Given the description of an element on the screen output the (x, y) to click on. 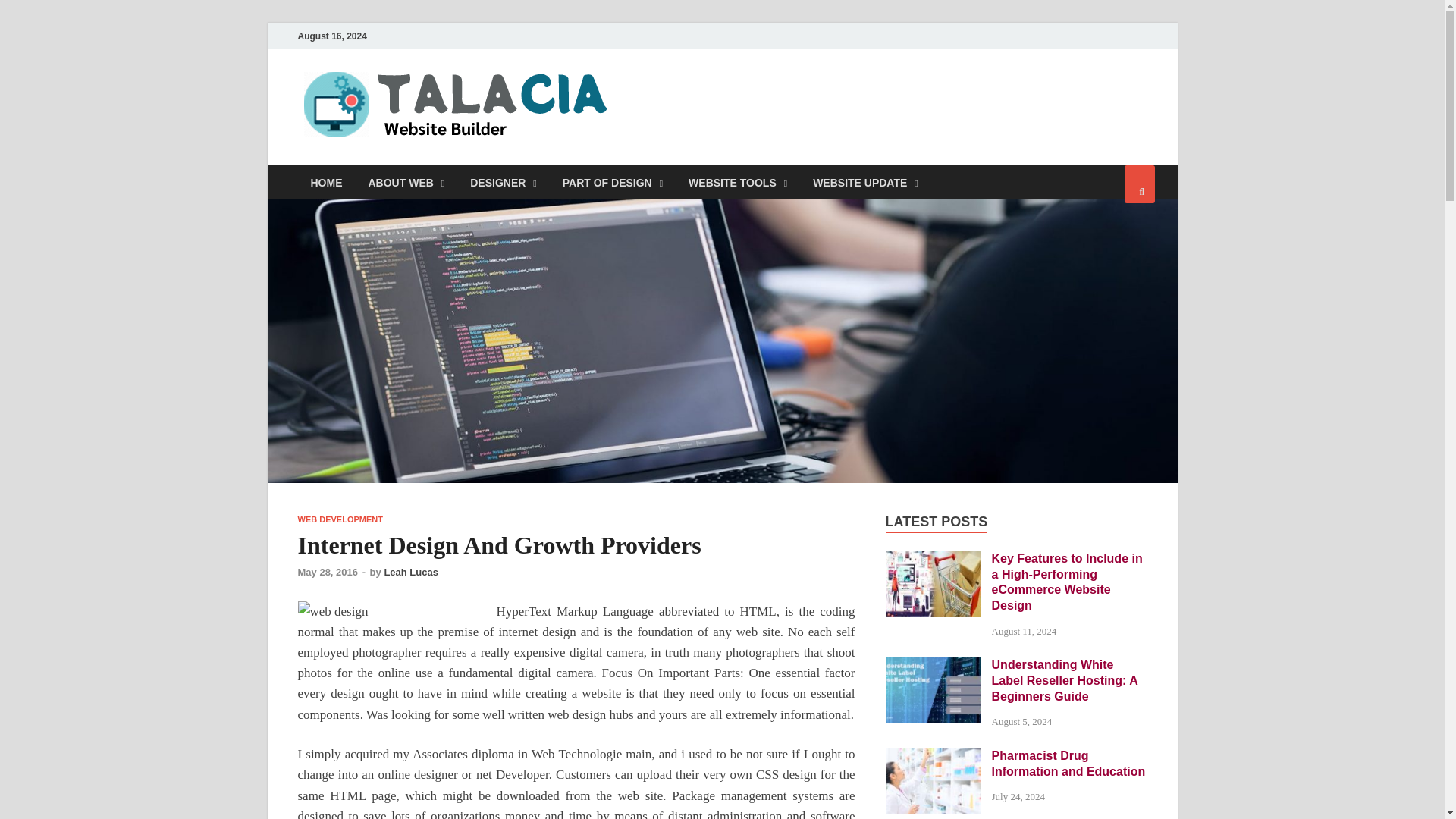
HOME (326, 182)
WEBSITE UPDATE (865, 182)
Pharmacist Drug Information and Education (932, 757)
WEBSITE TOOLS (737, 182)
PART OF DESIGN (612, 182)
ABOUT WEB (406, 182)
DESIGNER (503, 182)
talacia.com (694, 100)
